Given the description of an element on the screen output the (x, y) to click on. 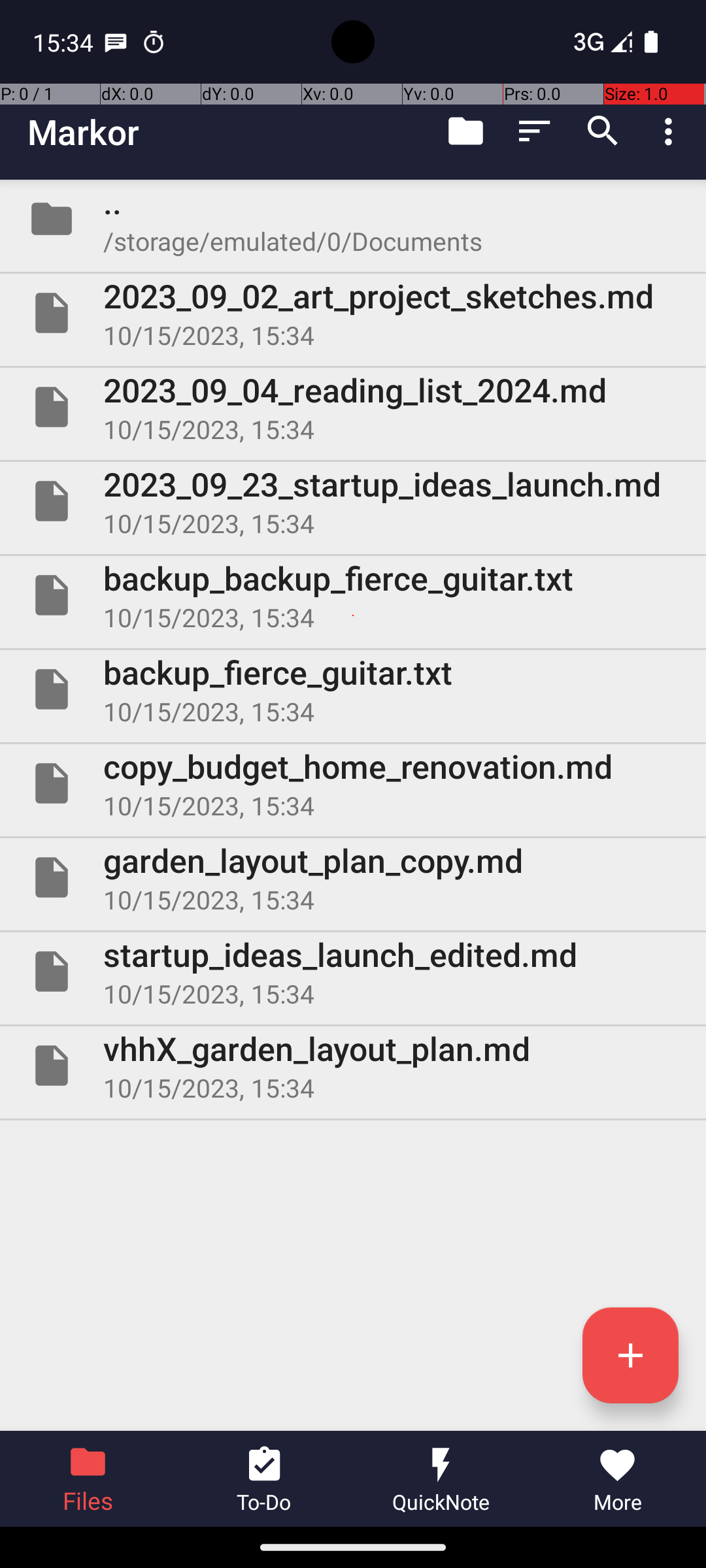
File 2023_09_02_art_project_sketches.md  Element type: android.widget.LinearLayout (353, 312)
File 2023_09_04_reading_list_2024.md  Element type: android.widget.LinearLayout (353, 406)
File 2023_09_23_startup_ideas_launch.md  Element type: android.widget.LinearLayout (353, 500)
File backup_backup_fierce_guitar.txt  Element type: android.widget.LinearLayout (353, 594)
File backup_fierce_guitar.txt  Element type: android.widget.LinearLayout (353, 689)
File copy_budget_home_renovation.md  Element type: android.widget.LinearLayout (353, 783)
File garden_layout_plan_copy.md  Element type: android.widget.LinearLayout (353, 877)
File startup_ideas_launch_edited.md  Element type: android.widget.LinearLayout (353, 971)
File vhhX_garden_layout_plan.md  Element type: android.widget.LinearLayout (353, 1065)
